Given the description of an element on the screen output the (x, y) to click on. 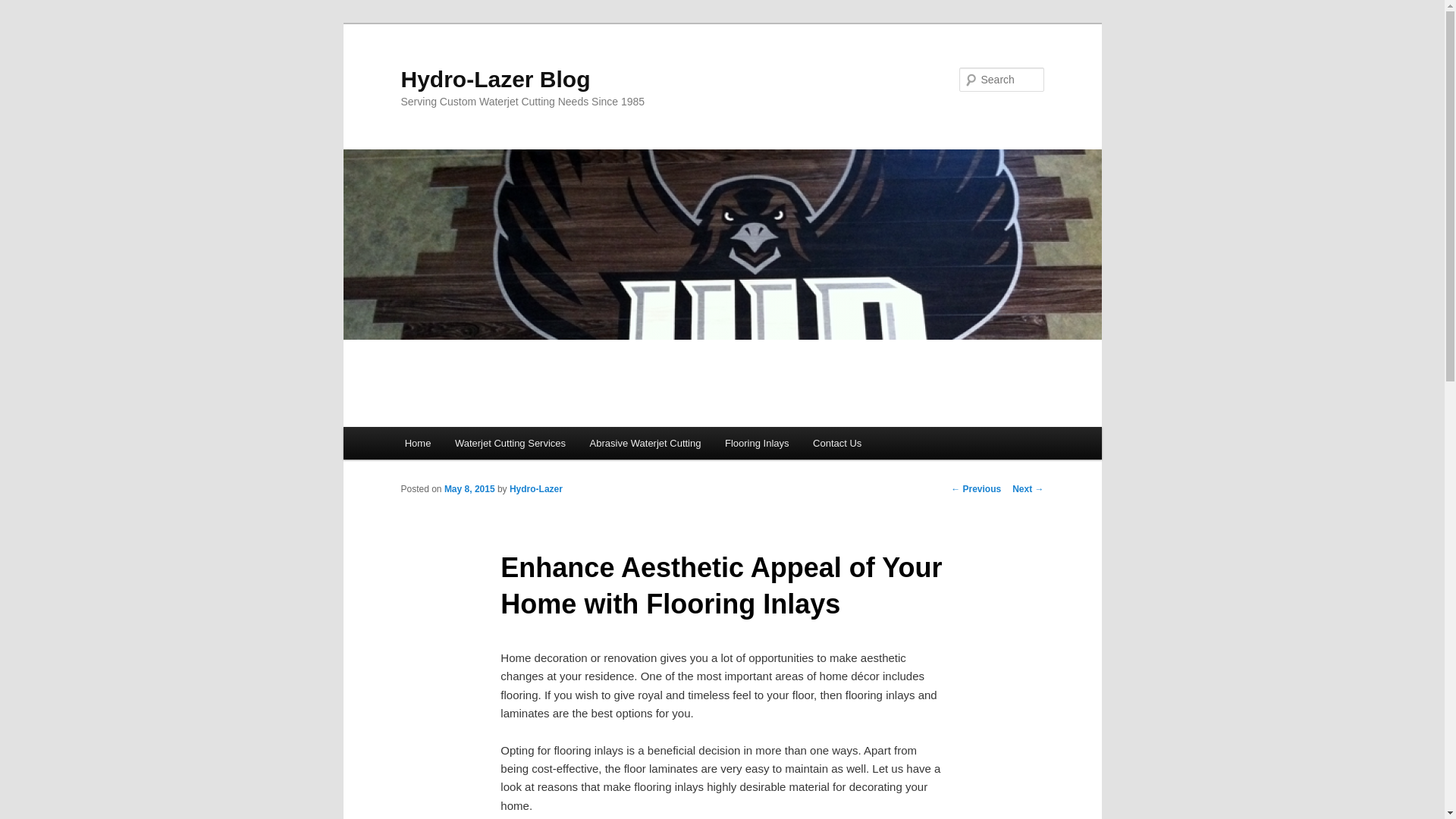
Hydro-Lazer Blog (494, 78)
May 8, 2015 (469, 489)
Contact Us (836, 442)
Waterjet Cutting Services (510, 442)
11:47 am (469, 489)
Flooring Inlays (756, 442)
Hydro-Lazer (535, 489)
Abrasive Waterjet Cutting (645, 442)
Home (417, 442)
